Given the description of an element on the screen output the (x, y) to click on. 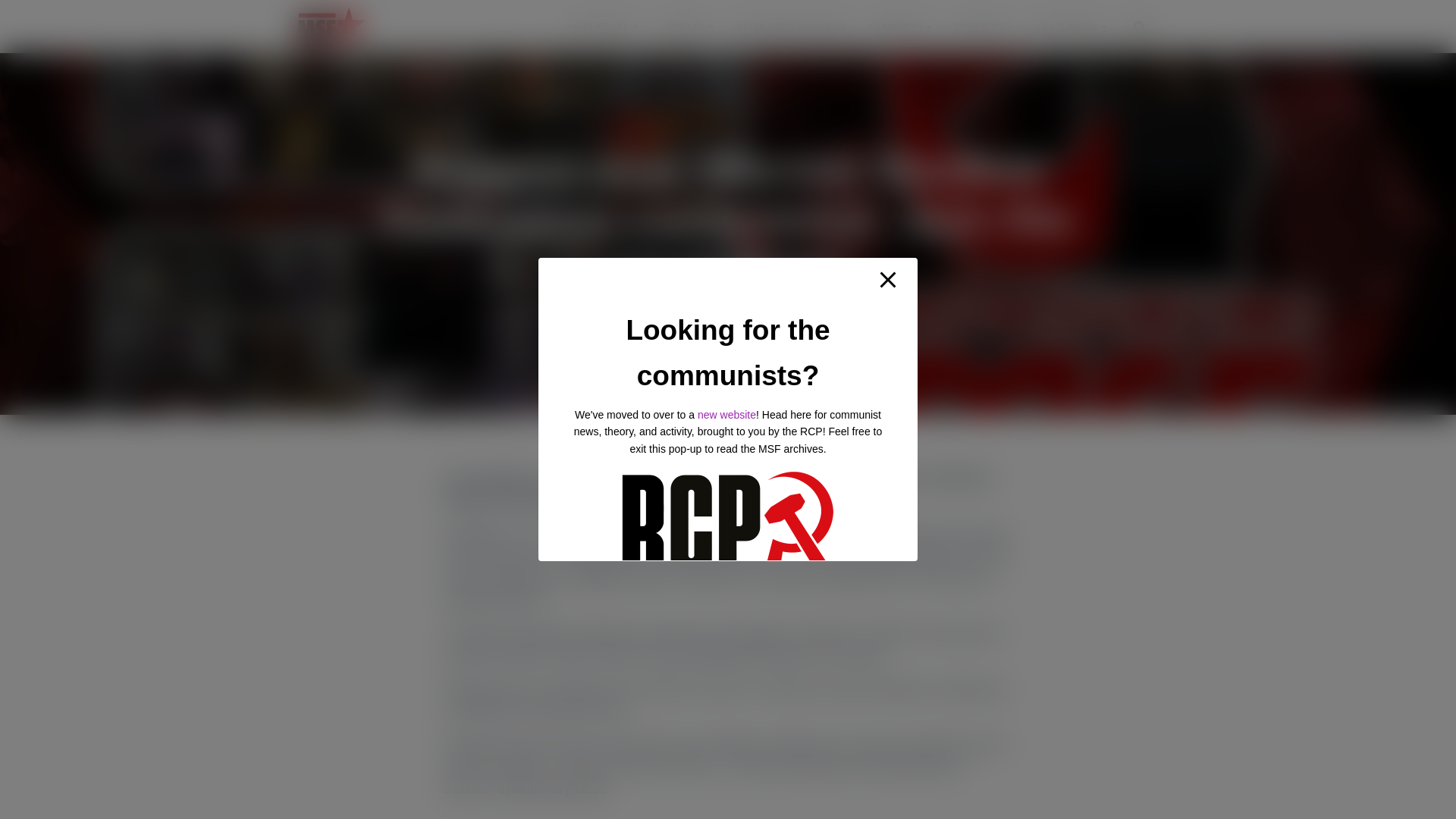
ARTICLES (687, 26)
SOCIAL MEDIA (1070, 26)
Articles (687, 26)
Marxist Student Federation (330, 26)
WHO WE ARE (604, 26)
REVOLUTION MAGAZINE (791, 26)
Who we are (604, 26)
CAMPAIGNS (900, 26)
CONTACT US (982, 26)
